Given the description of an element on the screen output the (x, y) to click on. 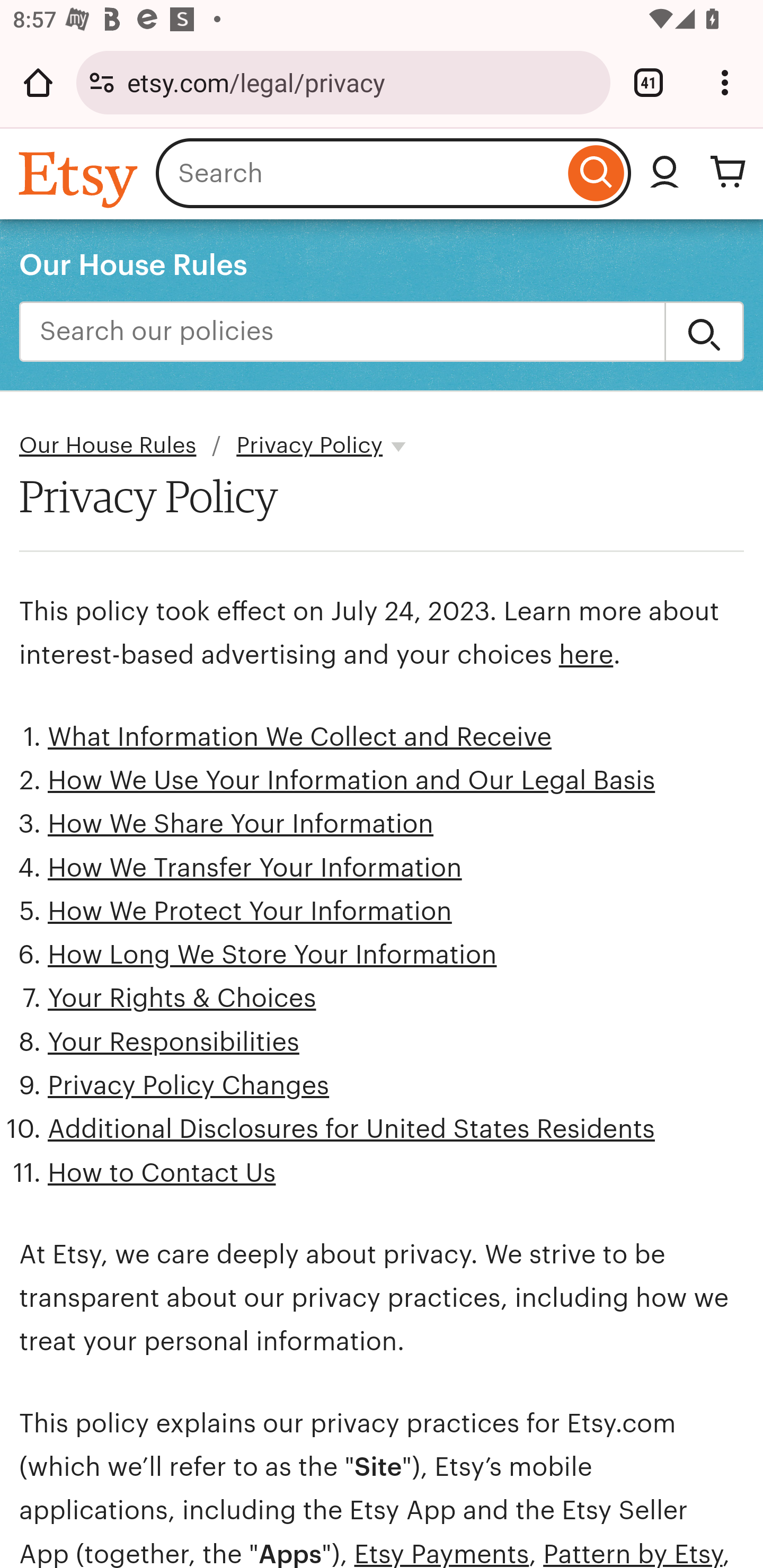
Open the home page (38, 82)
Connection is secure (101, 82)
Switch or close tabs (648, 82)
Customize and control Google Chrome (724, 82)
etsy.com/legal/privacy (362, 82)
Search (595, 172)
Cart (727, 172)
Sign in (664, 172)
Etsy (80, 178)
Our House Rules (133, 263)
Search (703, 331)
Our House Rules (107, 445)
here (585, 655)
What Information We Collect and Receive (300, 736)
How We Use Your Information and Our Legal Basis (351, 781)
How We Share Your Information (240, 823)
How We Transfer Your Information (254, 867)
How We Protect Your Information (250, 911)
How Long We Store Your Information (272, 954)
Your Rights & Choices (181, 998)
Your Responsibilities (173, 1041)
Privacy Policy Changes (188, 1085)
Additional Disclosures for United States Residents (350, 1128)
How to Contact Us (161, 1172)
Etsy Payments (440, 1553)
Pattern by Etsy (632, 1553)
